Given the description of an element on the screen output the (x, y) to click on. 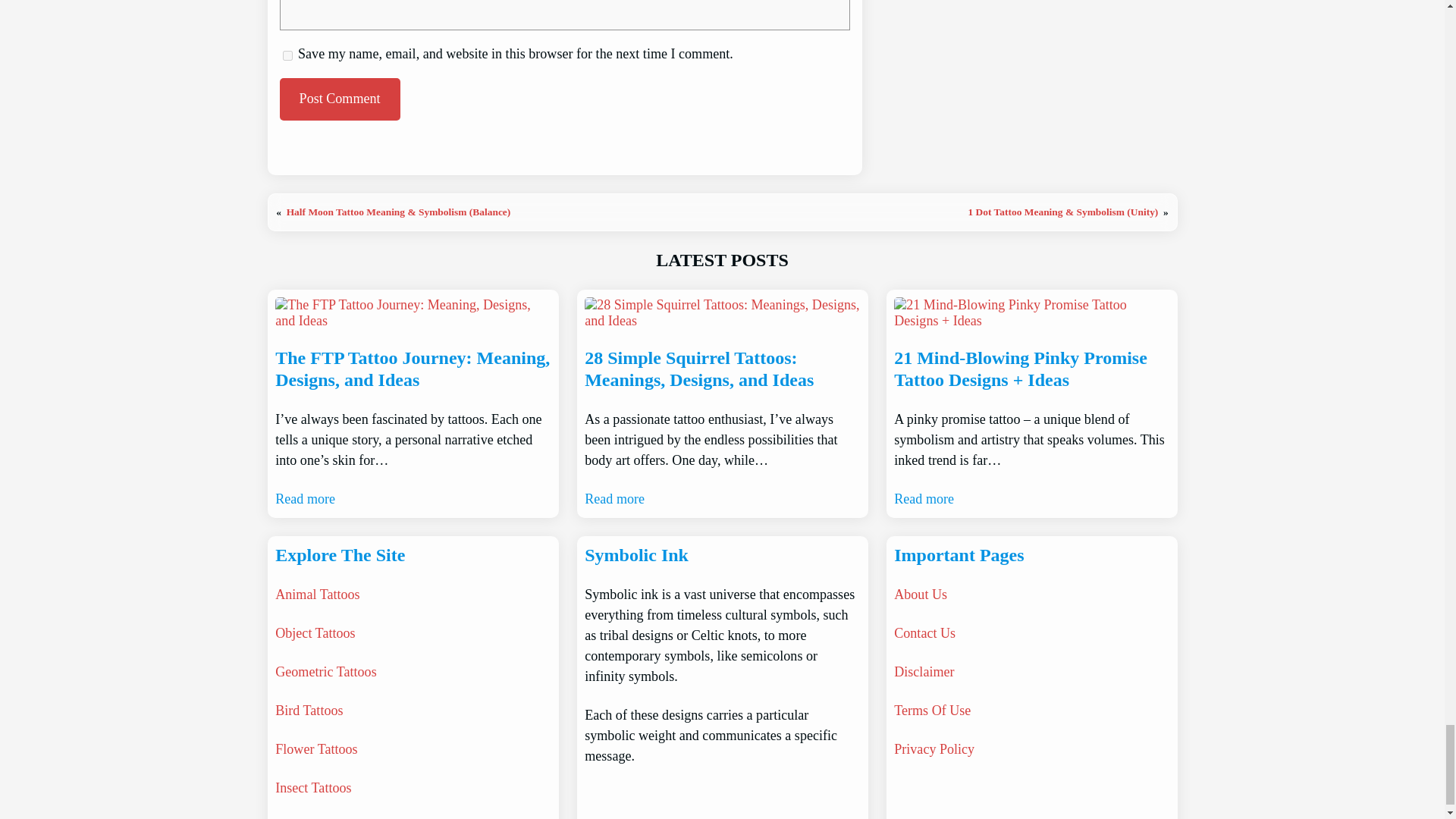
Post Comment (338, 98)
Post Comment (338, 98)
